Given the description of an element on the screen output the (x, y) to click on. 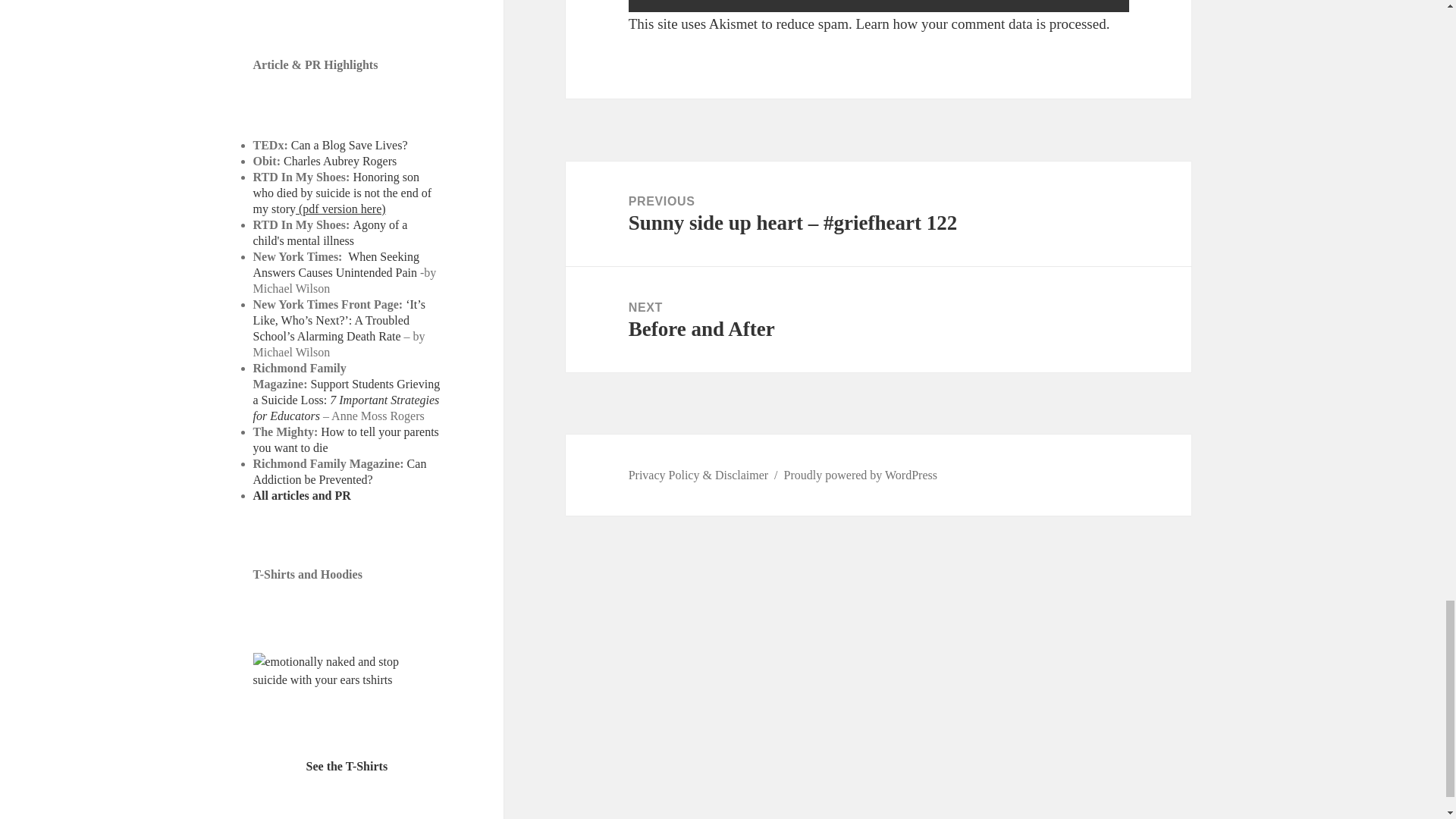
Post Comment (878, 6)
